Given the description of an element on the screen output the (x, y) to click on. 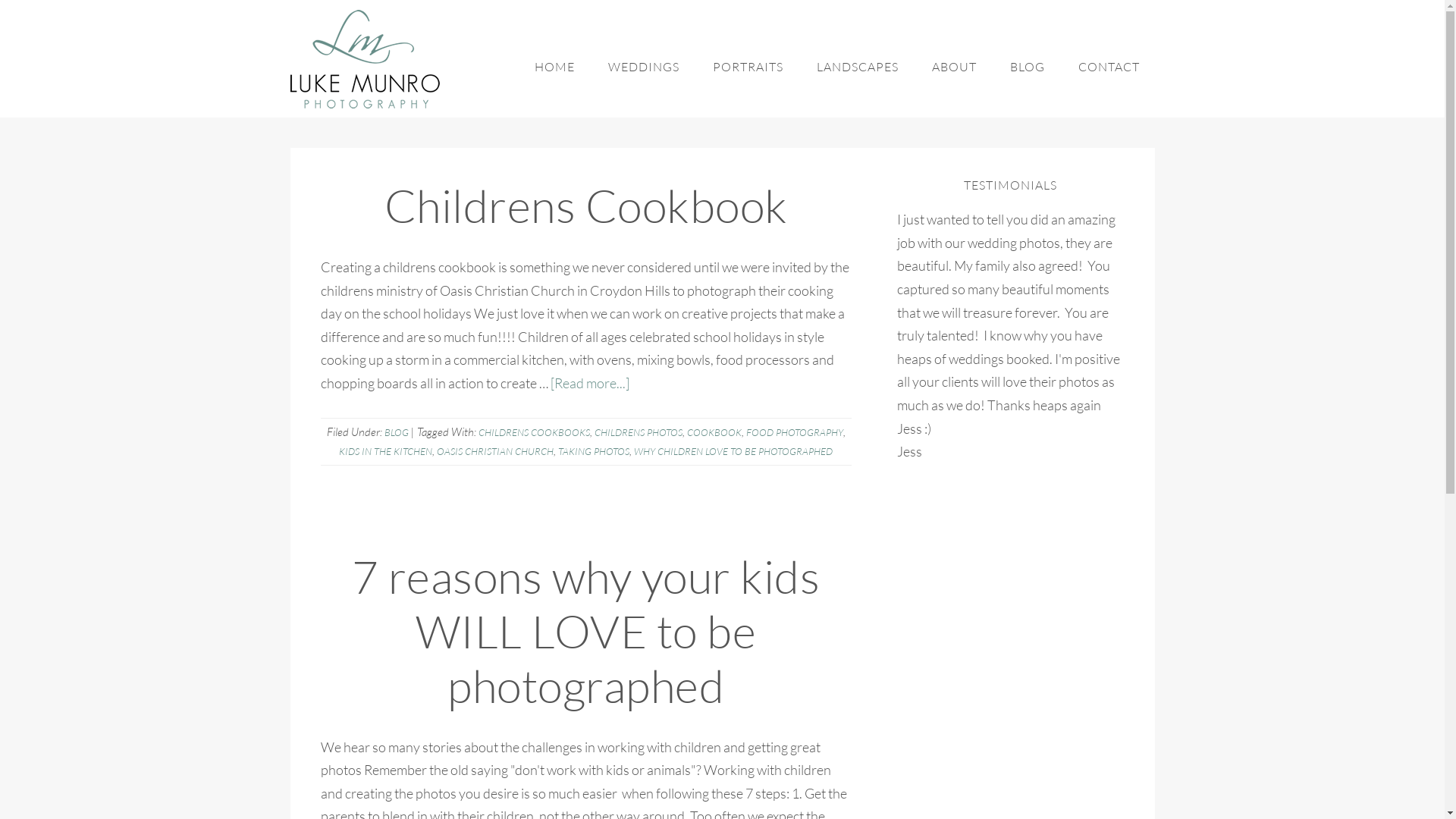
CONTACT Element type: text (1108, 65)
BLOG Element type: text (395, 432)
WEDDINGS Element type: text (643, 65)
BLOG Element type: text (1027, 65)
WHY CHILDREN LOVE TO BE PHOTOGRAPHED Element type: text (732, 451)
CHILDRENS COOKBOOKS Element type: text (533, 432)
[Read more...] Element type: text (589, 382)
LANDSCAPES Element type: text (856, 65)
HOME Element type: text (553, 65)
COOKBOOK Element type: text (714, 432)
TAKING PHOTOS Element type: text (593, 451)
OASIS CHRISTIAN CHURCH Element type: text (494, 451)
7 reasons why your kids WILL LOVE to be photographed Element type: text (585, 630)
FOOD PHOTOGRAPHY Element type: text (794, 432)
KIDS IN THE KITCHEN Element type: text (385, 451)
CHILDRENS PHOTOS Element type: text (638, 432)
PORTRAITS Element type: text (747, 65)
ABOUT Element type: text (953, 65)
Childrens Cookbook Element type: text (585, 204)
